Given the description of an element on the screen output the (x, y) to click on. 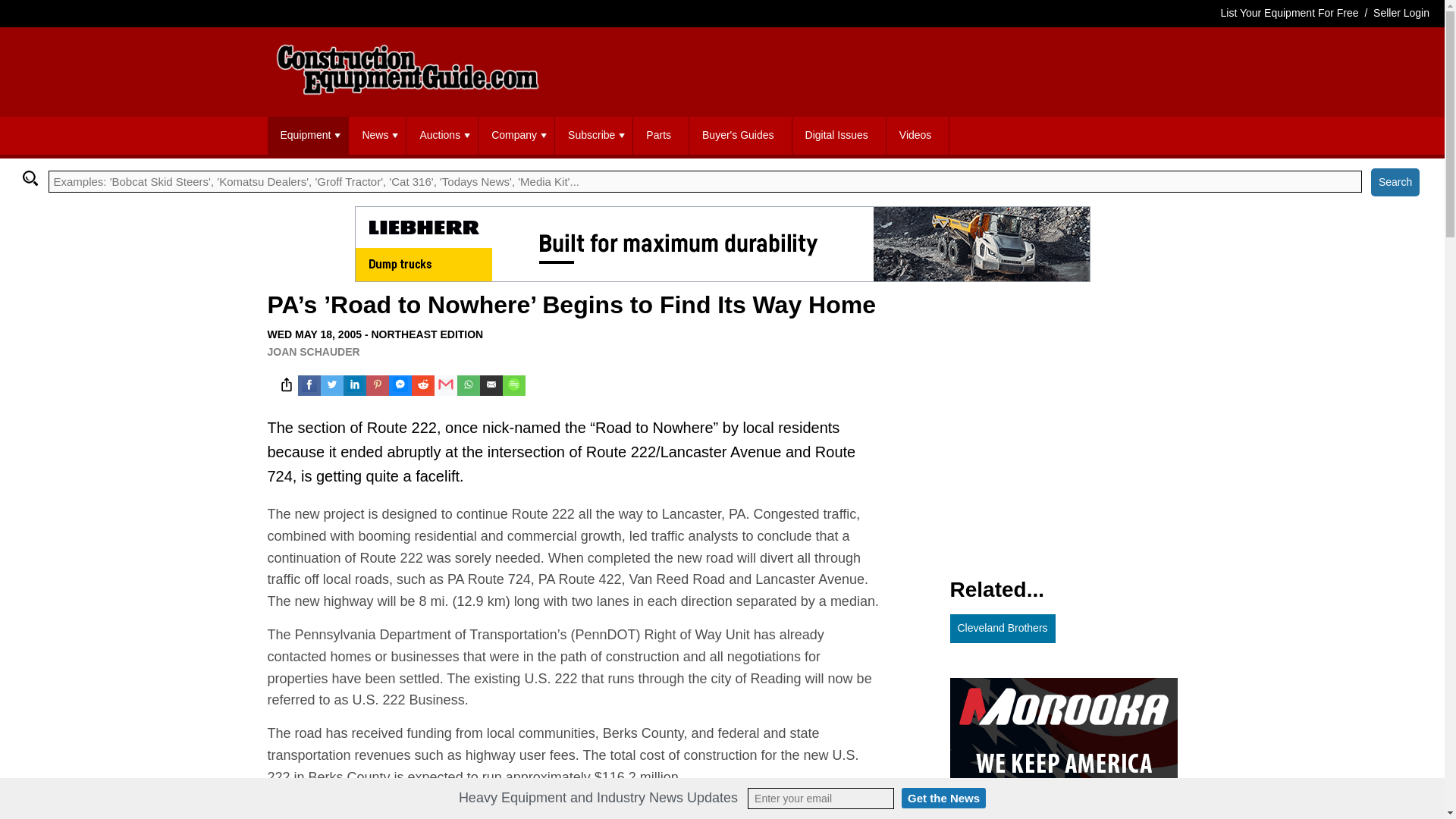
List Your Equipment For Free (1289, 12)
Seller Login (1401, 12)
